Given the description of an element on the screen output the (x, y) to click on. 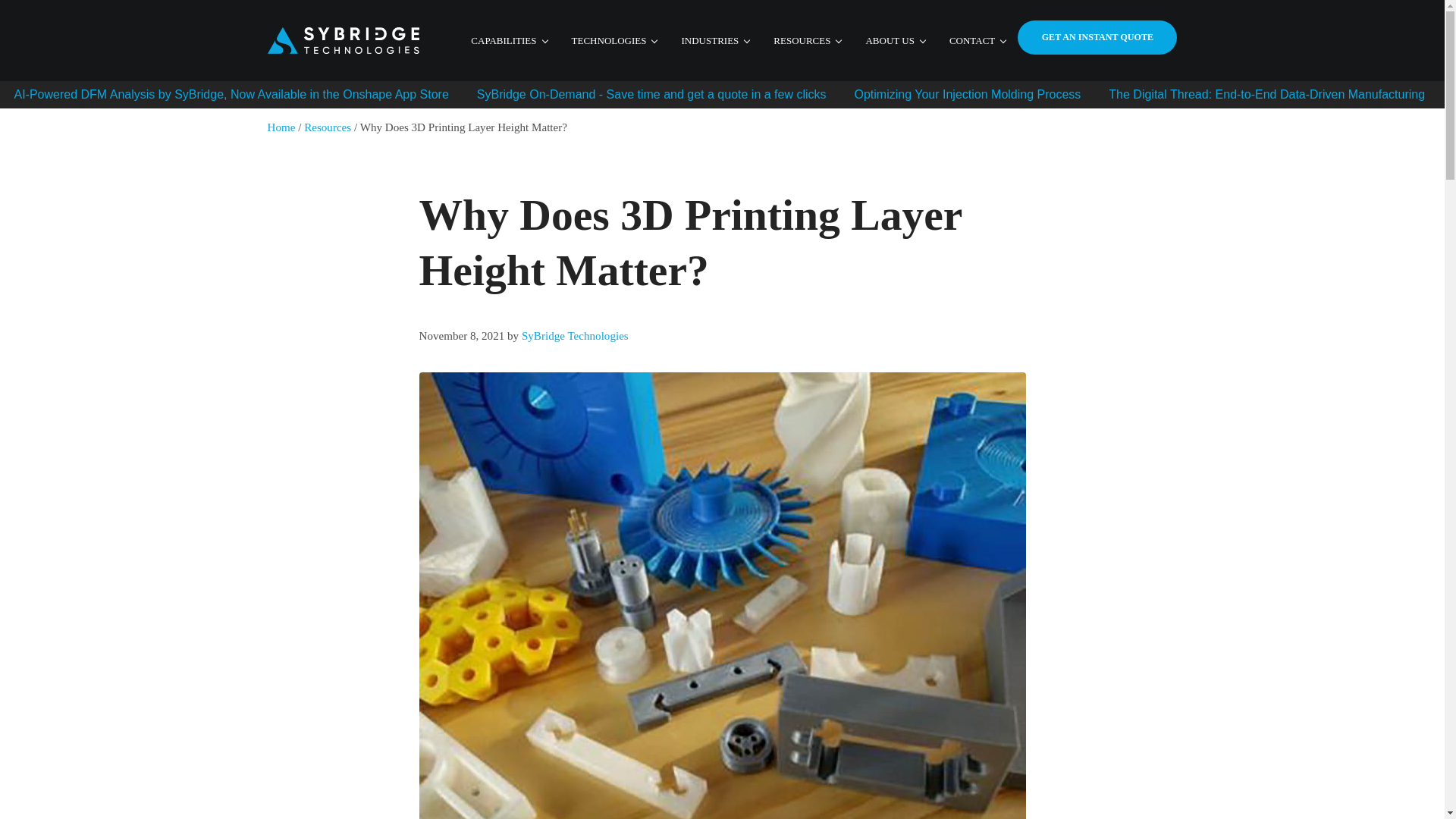
CAPABILITIES (508, 40)
ABOUT US (894, 40)
TECHNOLOGIES (614, 40)
RESOURCES (807, 40)
GET AN INSTANT QUOTE (1096, 37)
The Digital Thread: End-to-End Data-Driven Manufacturing (1266, 93)
INDUSTRIES (714, 40)
CONTACT (977, 40)
On-Demand (652, 93)
Optimizing Your Injection Molding Process (967, 93)
